Given the description of an element on the screen output the (x, y) to click on. 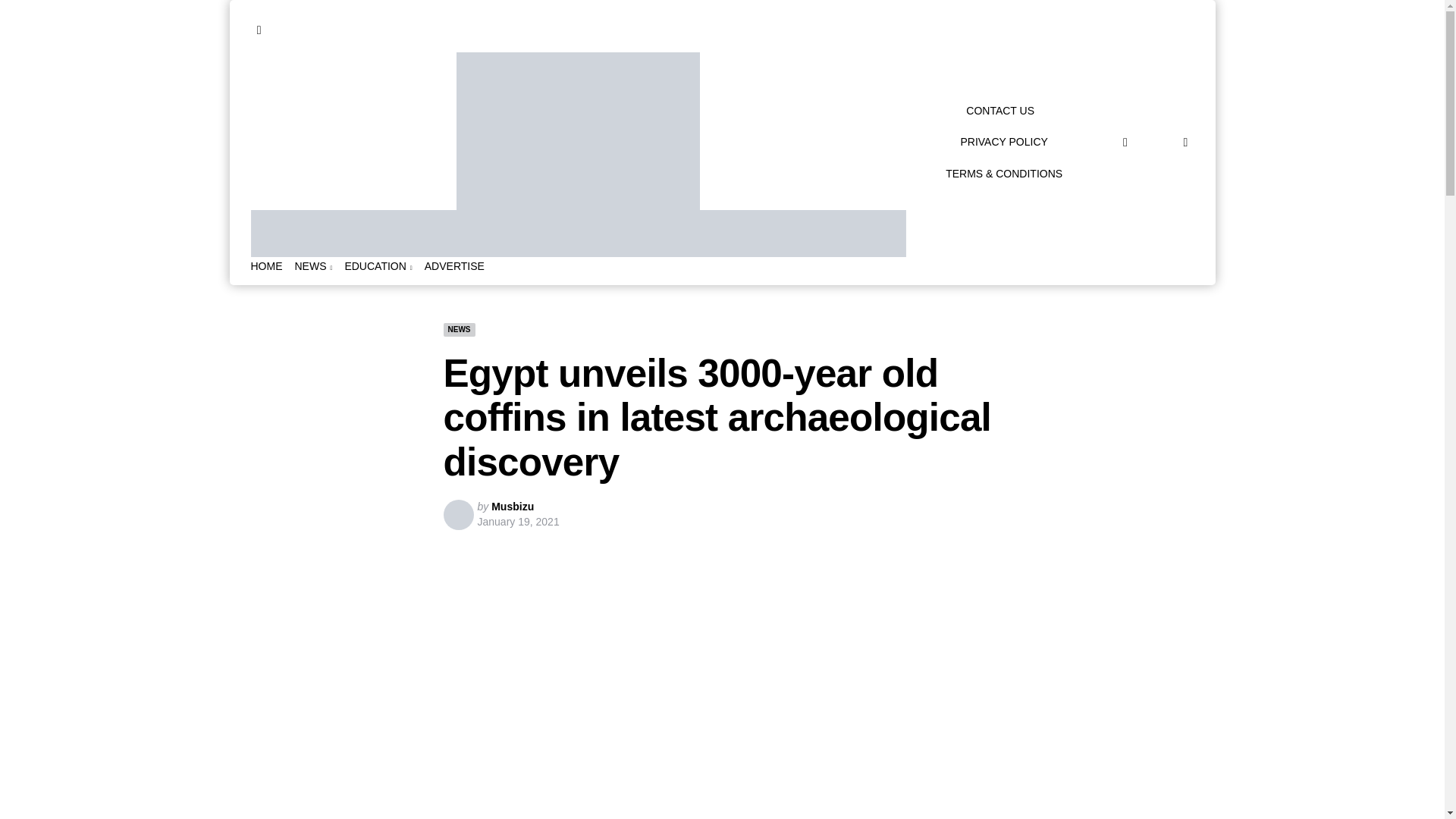
CONTACT US (999, 110)
PRIVACY POLICY (1002, 141)
HOME (266, 266)
ADVERTISE (454, 266)
NEWS (312, 266)
EDUCATION (377, 266)
